Given the description of an element on the screen output the (x, y) to click on. 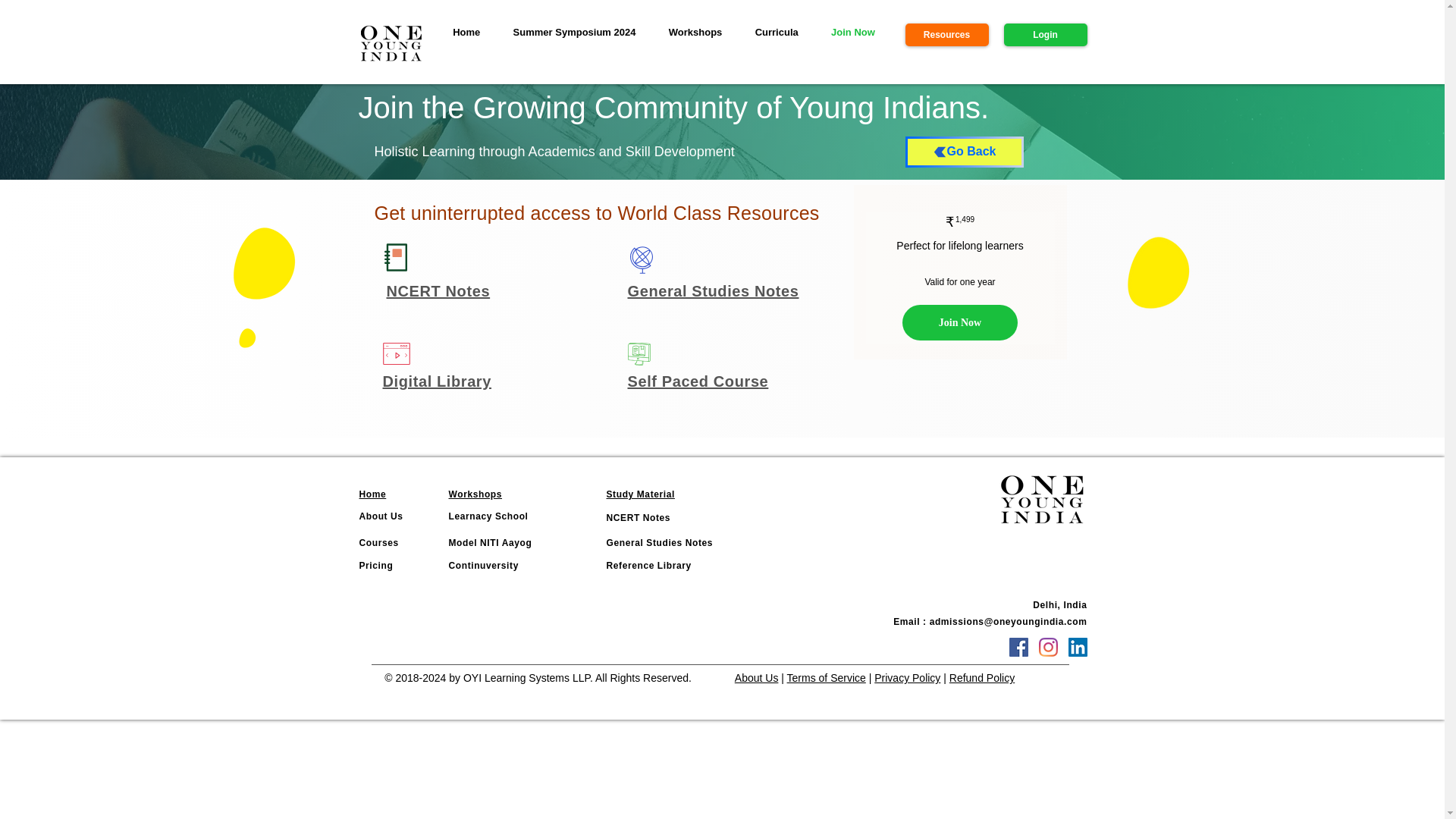
Curricula (775, 32)
About Us (381, 516)
Continuversity (483, 565)
Go Back (964, 151)
Terms of Service (826, 677)
Learnacy School (488, 516)
Digital Library (435, 381)
Refund Policy (981, 677)
Pricing (376, 565)
Self Paced Course (697, 381)
Join Now (852, 32)
Workshops (695, 32)
Reference Library (649, 565)
Resources (946, 34)
Join Now (959, 322)
